Given the description of an element on the screen output the (x, y) to click on. 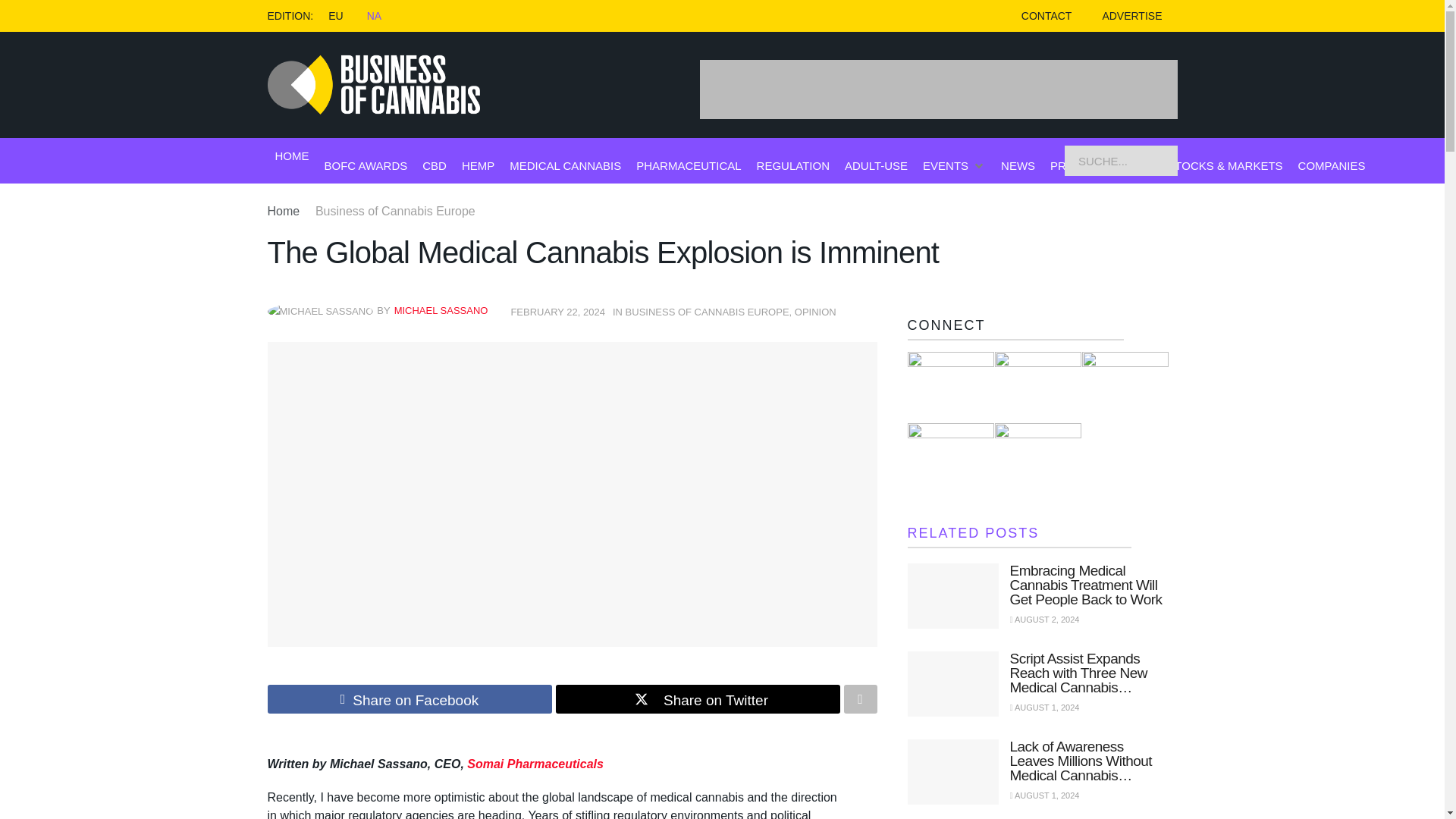
PHARMACEUTICAL (688, 165)
BUSINESS OF CANNABIS EUROPE (707, 311)
HEMP (478, 165)
Business of Cannabis Europe (395, 210)
CONTACT (1046, 15)
FEBRUARY 22, 2024 (558, 311)
Share on Twitter (697, 698)
REGULATION (793, 165)
Home (282, 210)
MEDICAL CANNABIS (565, 165)
OPINION (814, 311)
EVENTS (945, 165)
BOFC AWARDS (365, 165)
Share on Facebook (408, 698)
MICHAEL SASSANO (440, 310)
